Given the description of an element on the screen output the (x, y) to click on. 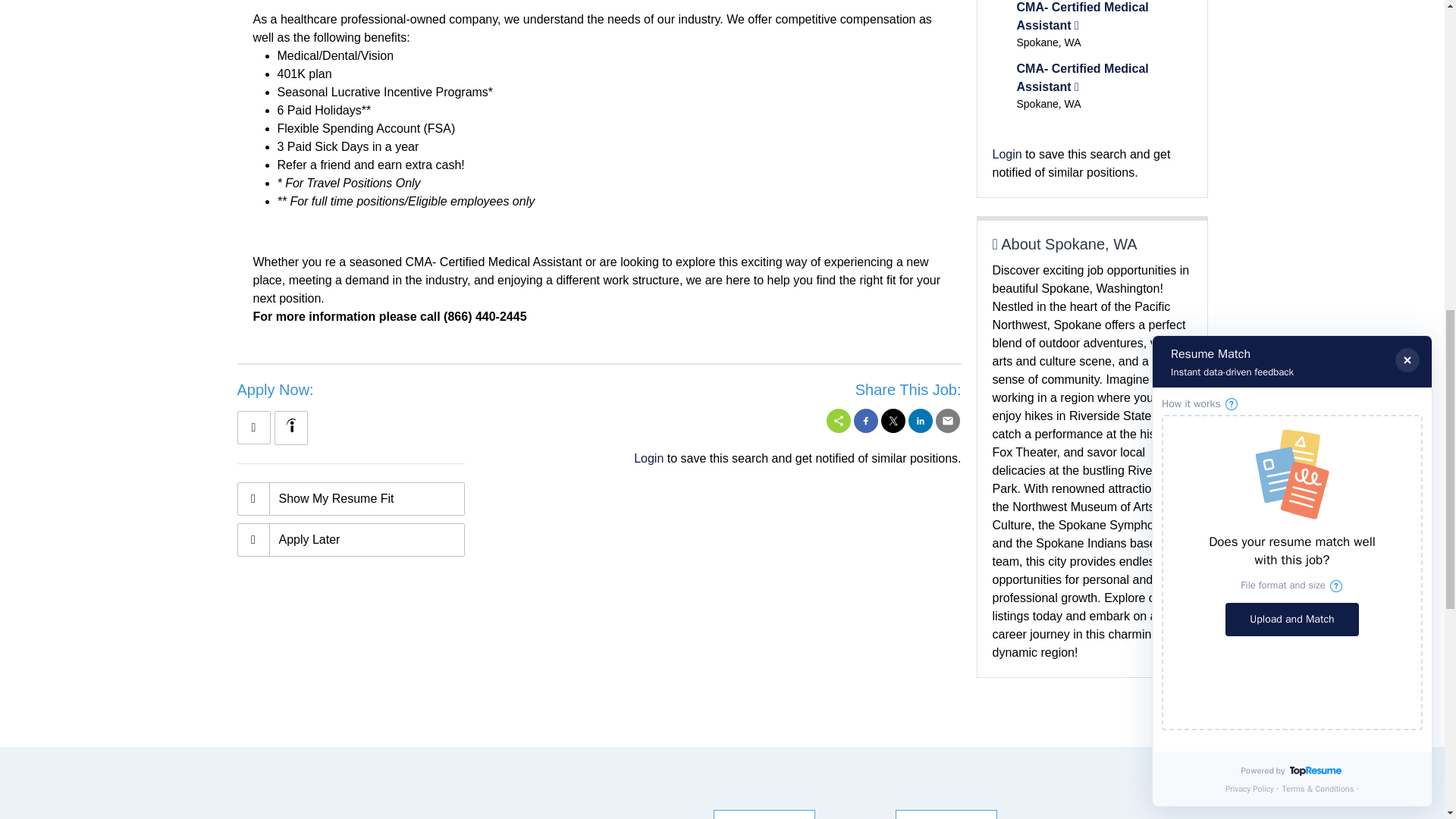
Show My Resume Fit (349, 498)
Match (349, 498)
Apply Later (349, 539)
Indeed (290, 425)
Apply Online (252, 427)
